Given the description of an element on the screen output the (x, y) to click on. 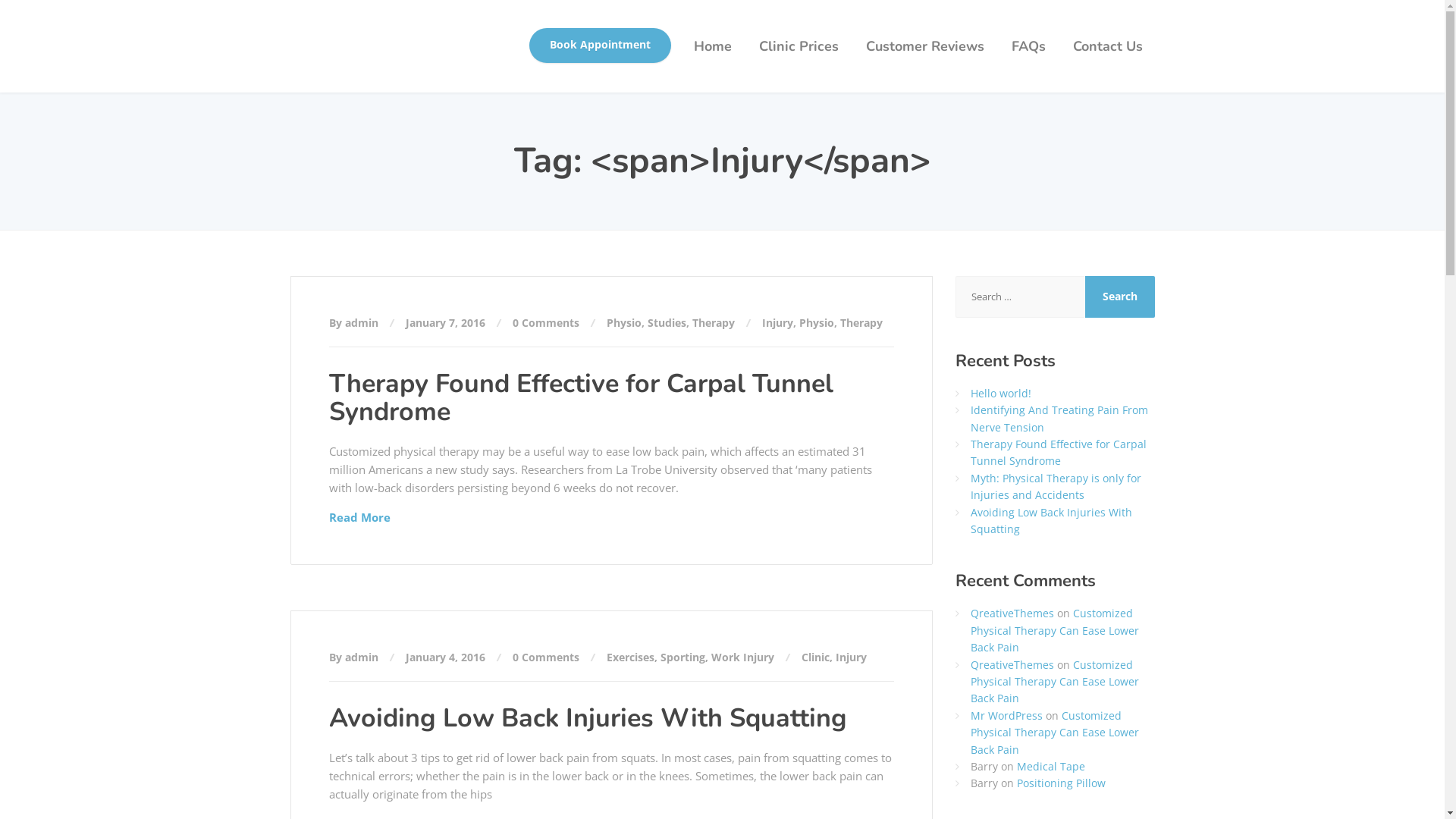
Search Element type: text (1119, 296)
FAQs Element type: text (1028, 46)
Therapy Found Effective for Carpal Tunnel Syndrome Element type: text (1058, 451)
Inner West Sports Massage Element type: hover (289, 26)
Read More Element type: text (359, 516)
Therapy Found Effective for Carpal Tunnel Syndrome Element type: text (581, 397)
Exercises Element type: text (630, 656)
Sporting Element type: text (681, 656)
QreativeThemes Element type: text (1012, 612)
Injury Element type: text (850, 656)
Physio Element type: text (623, 322)
Clinic Element type: text (814, 656)
Hello world! Element type: text (1000, 392)
Mr WordPress Element type: text (1006, 715)
Customer Reviews Element type: text (924, 46)
Therapy Element type: text (712, 322)
Myth: Physical Therapy is only for Injuries and Accidents Element type: text (1055, 486)
0 Comments Element type: text (545, 322)
Home Element type: text (711, 46)
Positioning Pillow Element type: text (1060, 782)
Clinic Prices Element type: text (798, 46)
Medical Tape Element type: text (1050, 766)
Therapy Element type: text (861, 322)
Customized Physical Therapy Can Ease Lower Back Pain Element type: text (1054, 732)
Avoiding Low Back Injuries With Squatting Element type: text (588, 717)
Work Injury Element type: text (742, 656)
Injury Element type: text (776, 322)
Contact Us Element type: text (1107, 46)
Studies Element type: text (666, 322)
Physio Element type: text (816, 322)
Customized Physical Therapy Can Ease Lower Back Pain Element type: text (1054, 681)
QreativeThemes Element type: text (1012, 664)
0 Comments Element type: text (545, 656)
Book Appointment Element type: text (600, 45)
Avoiding Low Back Injuries With Squatting Element type: text (1051, 520)
Identifying And Treating Pain From Nerve Tension Element type: text (1059, 417)
Customized Physical Therapy Can Ease Lower Back Pain Element type: text (1054, 629)
